Given the description of an element on the screen output the (x, y) to click on. 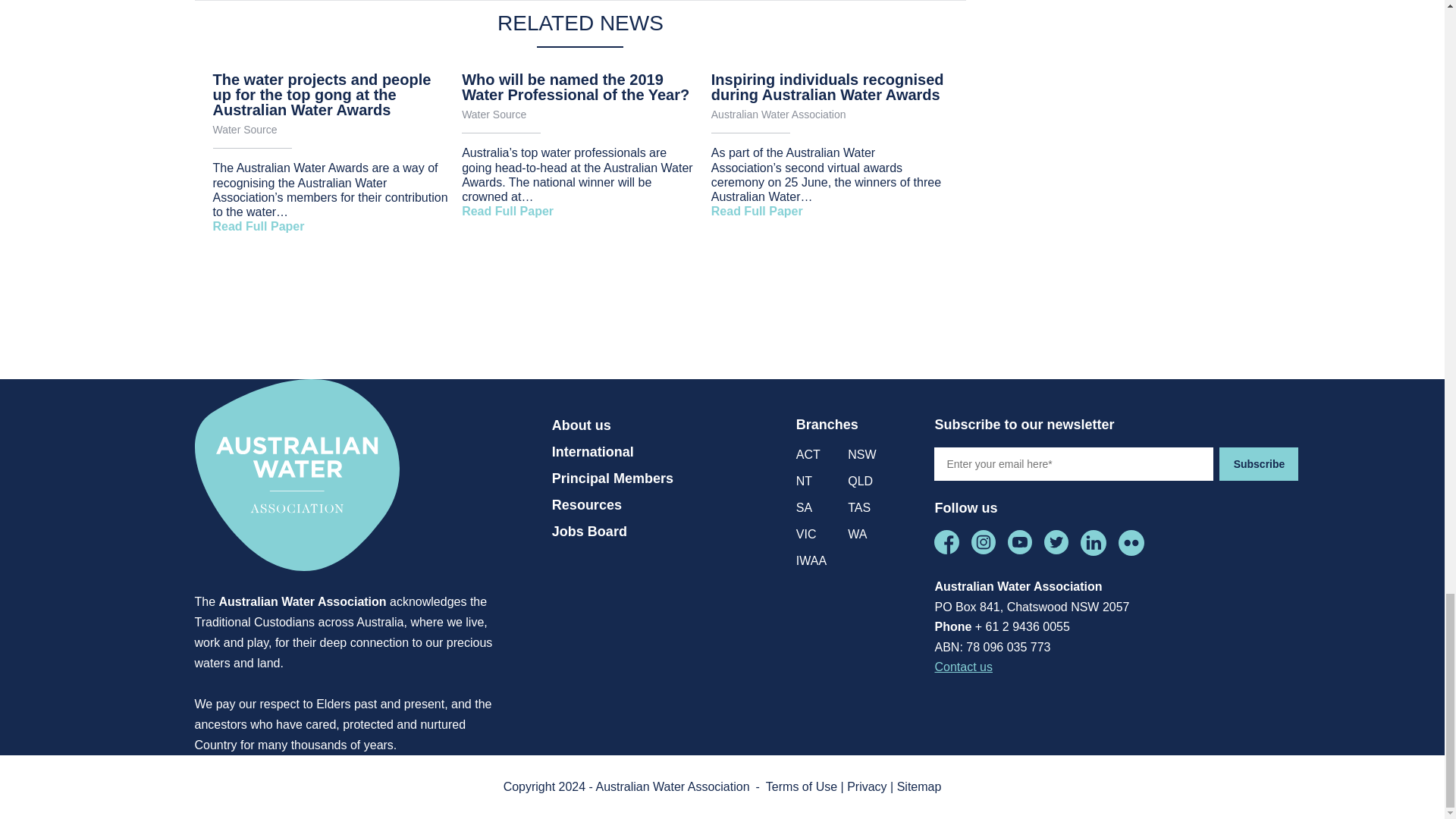
Subscribe (1259, 462)
